Given the description of an element on the screen output the (x, y) to click on. 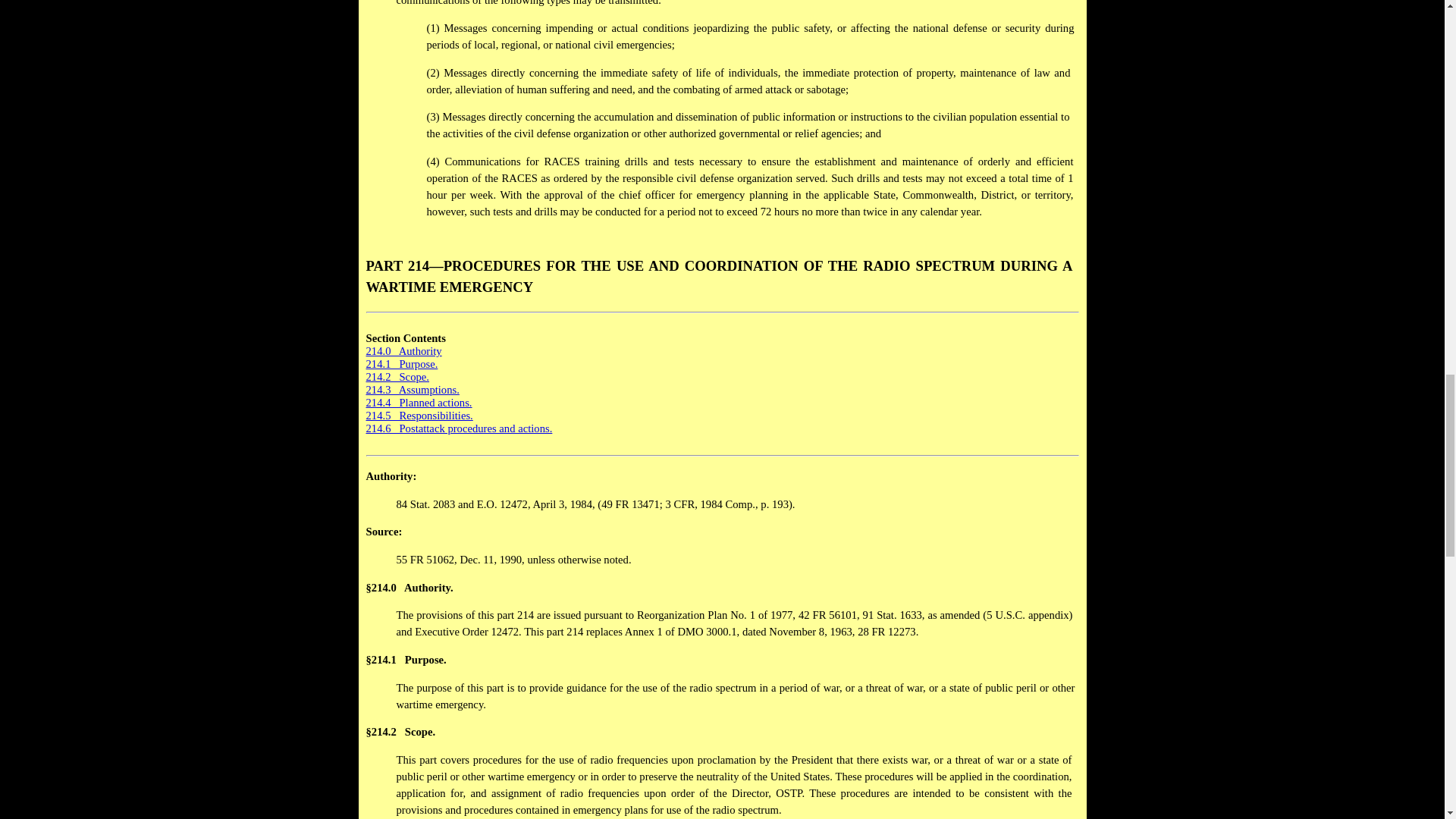
214.4   Planned actions. (418, 402)
214.2   Scope. (396, 377)
214.1   Purpose. (401, 363)
214.0   Authority (405, 357)
214.5   Responsibilities. (418, 415)
214.3   Assumptions. (411, 389)
214.6   Postattack procedures and actions. (458, 428)
